Given the description of an element on the screen output the (x, y) to click on. 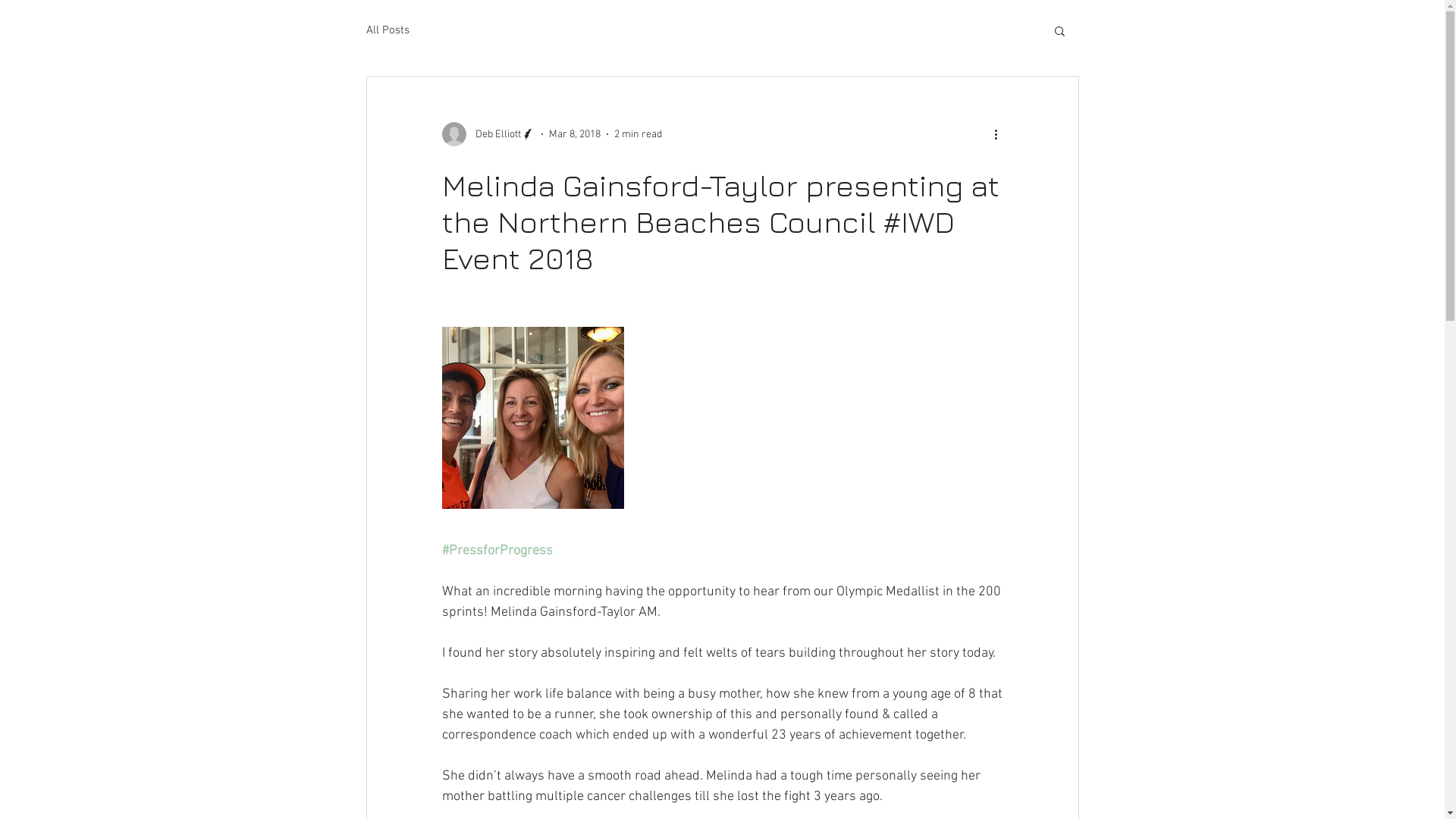
Deb Elliott Element type: text (487, 134)
All Posts Element type: text (386, 30)
#PressforProgress Element type: text (496, 550)
